Given the description of an element on the screen output the (x, y) to click on. 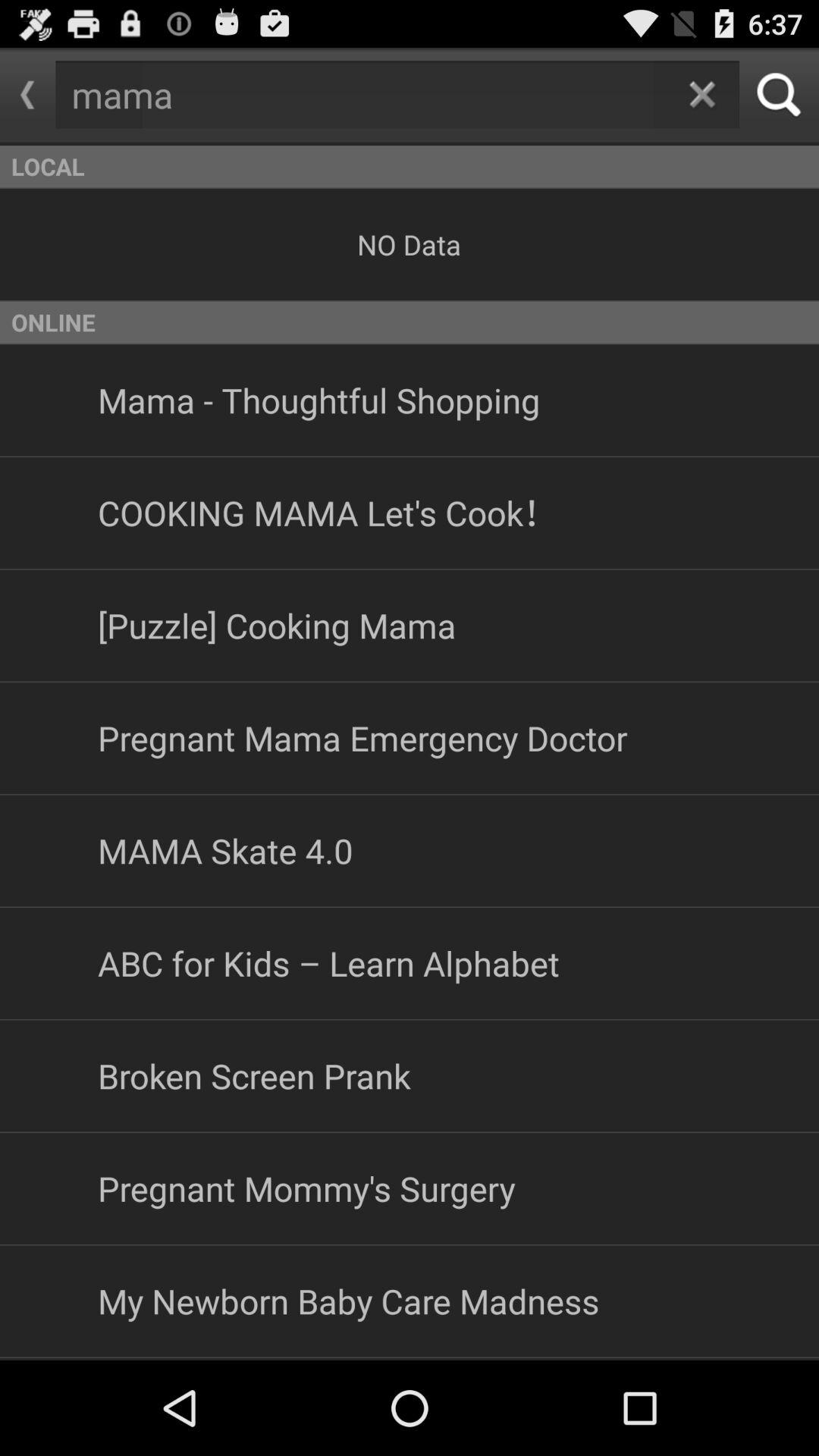
search (779, 94)
